Given the description of an element on the screen output the (x, y) to click on. 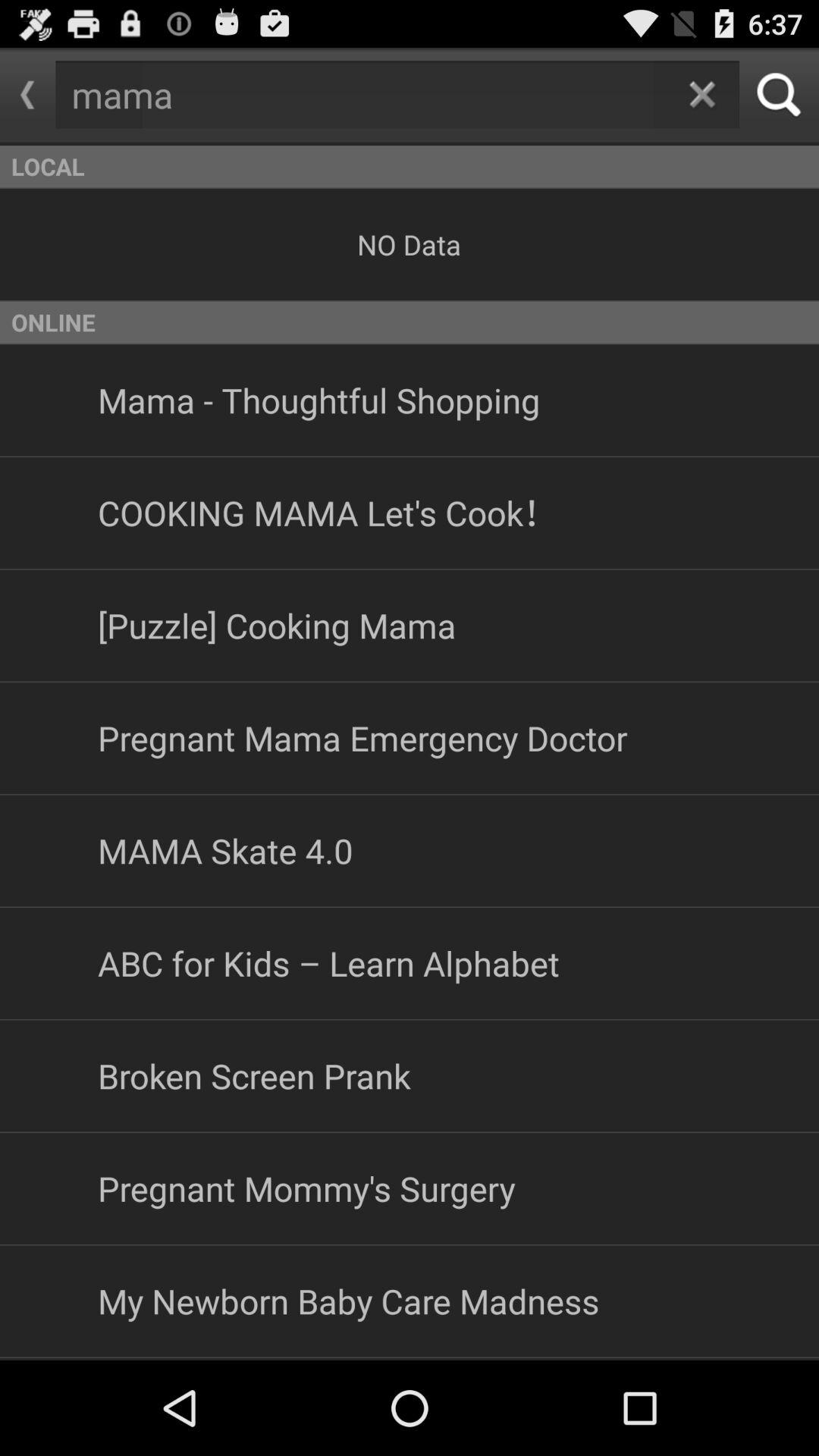
search (779, 94)
